Given the description of an element on the screen output the (x, y) to click on. 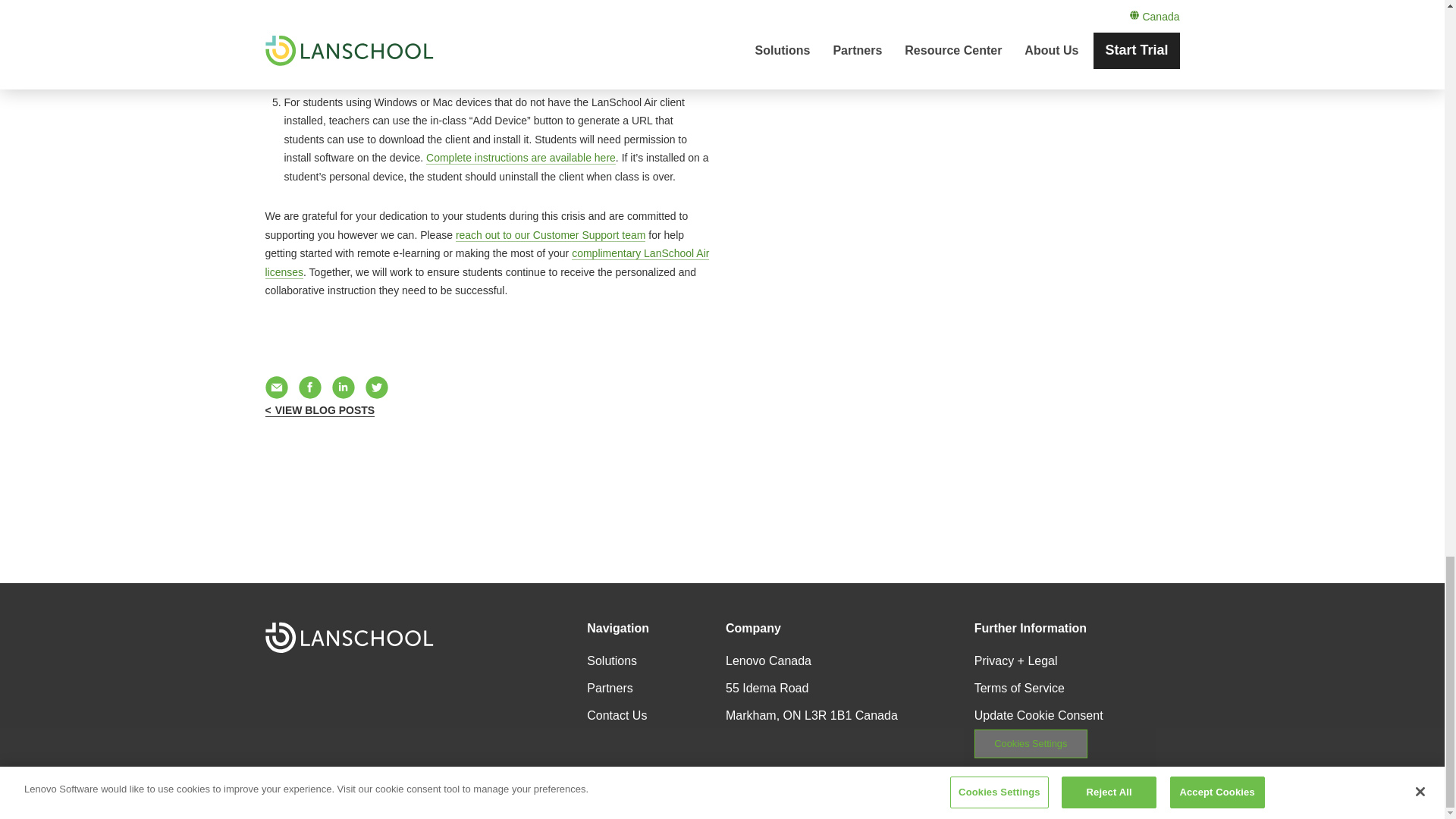
Solutions (611, 660)
Complete instructions are available here (520, 157)
complimentary LanSchool Air licenses (487, 263)
Partners (608, 687)
VIEW BLOG POSTS (319, 410)
homepage (348, 637)
Complete instructions are available here (592, 78)
reach out to our Customer Support team (550, 234)
